Given the description of an element on the screen output the (x, y) to click on. 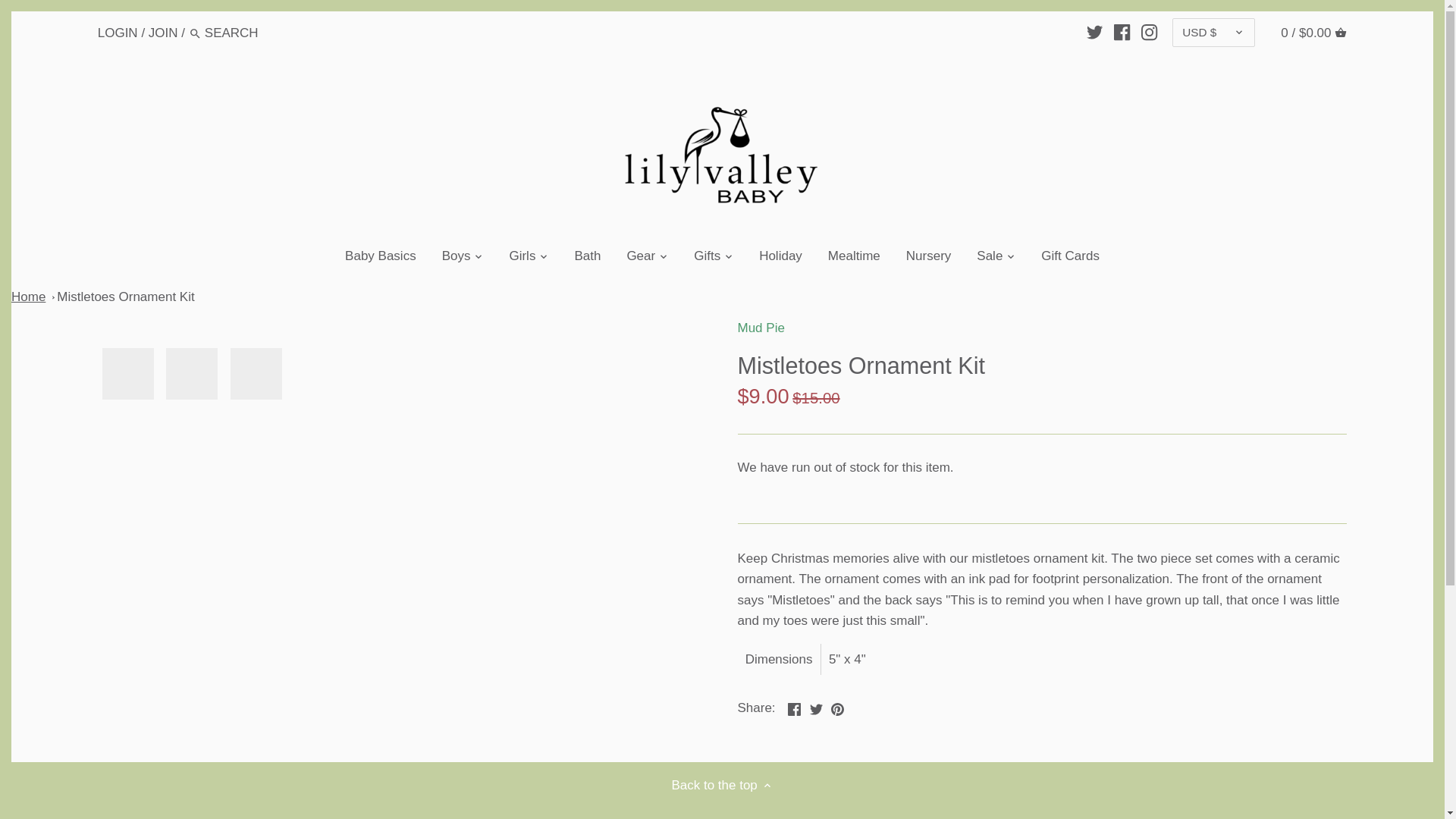
JOIN (162, 32)
CART (1340, 32)
Search (195, 33)
Pinterest (837, 708)
LOGIN (117, 32)
Facebook (793, 708)
INSTAGRAM (1149, 32)
Twitter (815, 708)
FACEBOOK (1121, 32)
TWITTER (1094, 32)
